Given the description of an element on the screen output the (x, y) to click on. 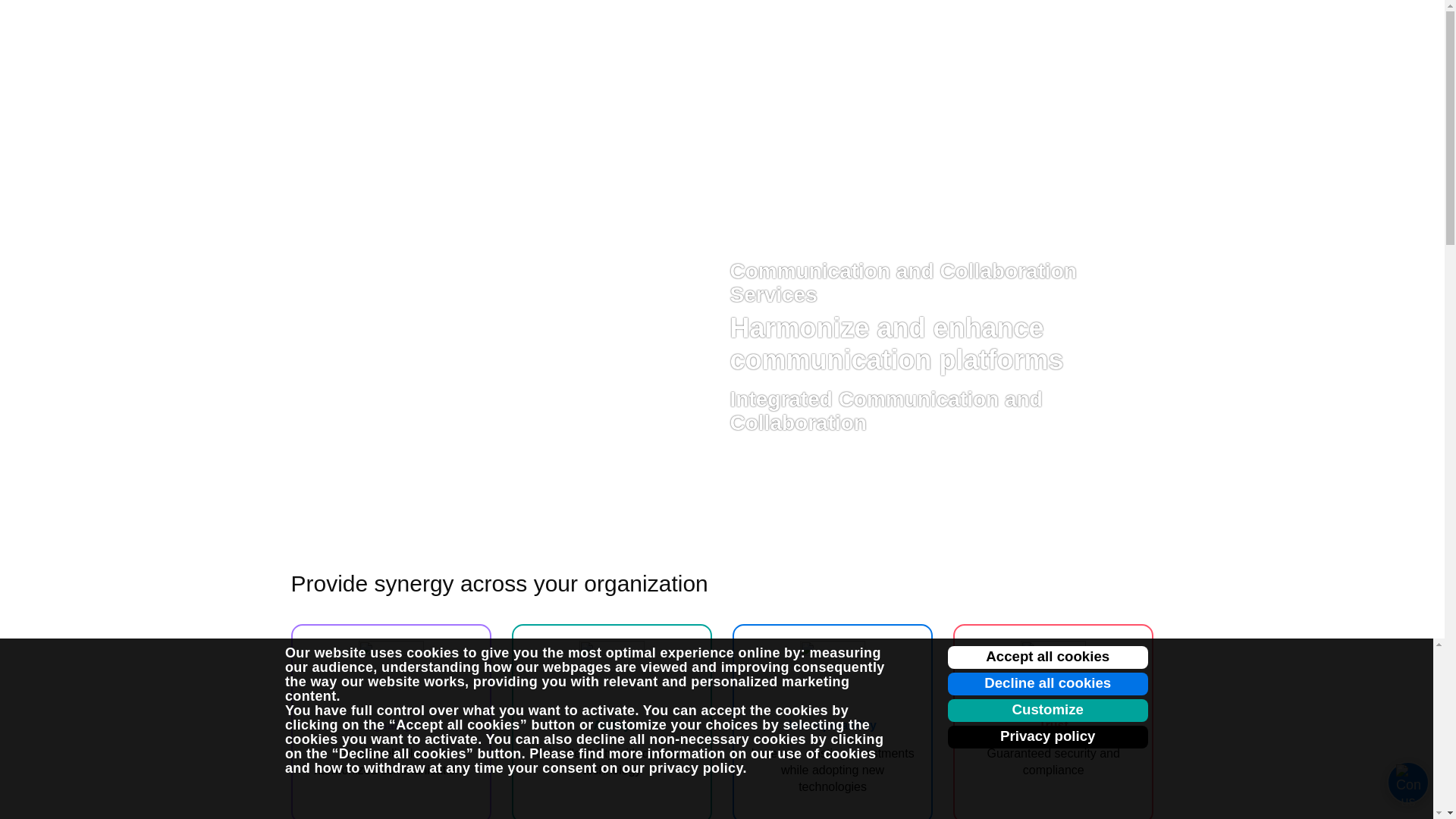
Careers (1037, 27)
privacy policy (695, 767)
Privacy policy (1047, 736)
Global (1112, 27)
Decline all cookies (1047, 683)
Customize (1047, 710)
Contact us (962, 27)
cookies (433, 652)
Accept all cookies (1047, 657)
